Given the description of an element on the screen output the (x, y) to click on. 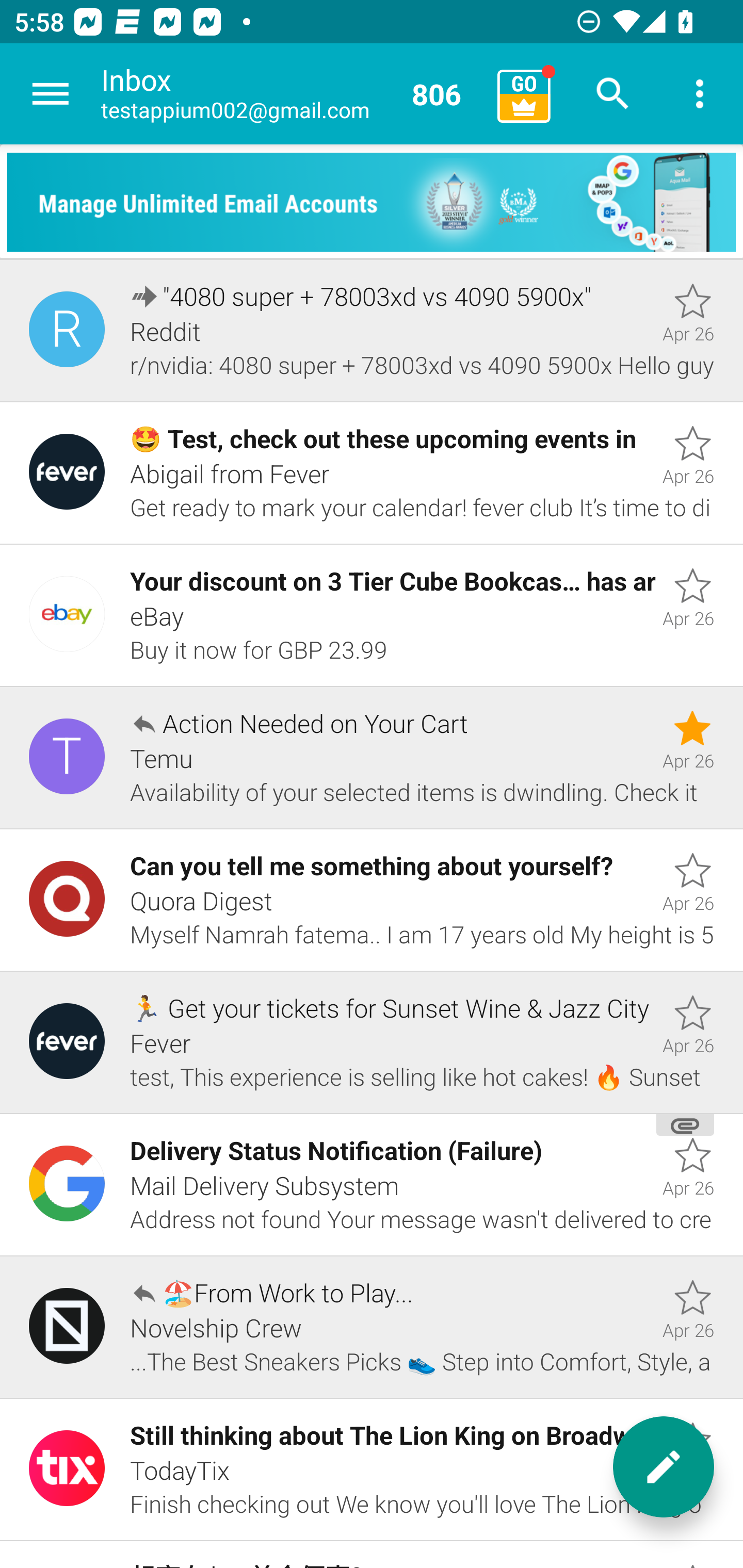
Navigate up (50, 93)
Inbox testappium002@gmail.com 806 (291, 93)
Search (612, 93)
More options (699, 93)
New message (663, 1466)
